Given the description of an element on the screen output the (x, y) to click on. 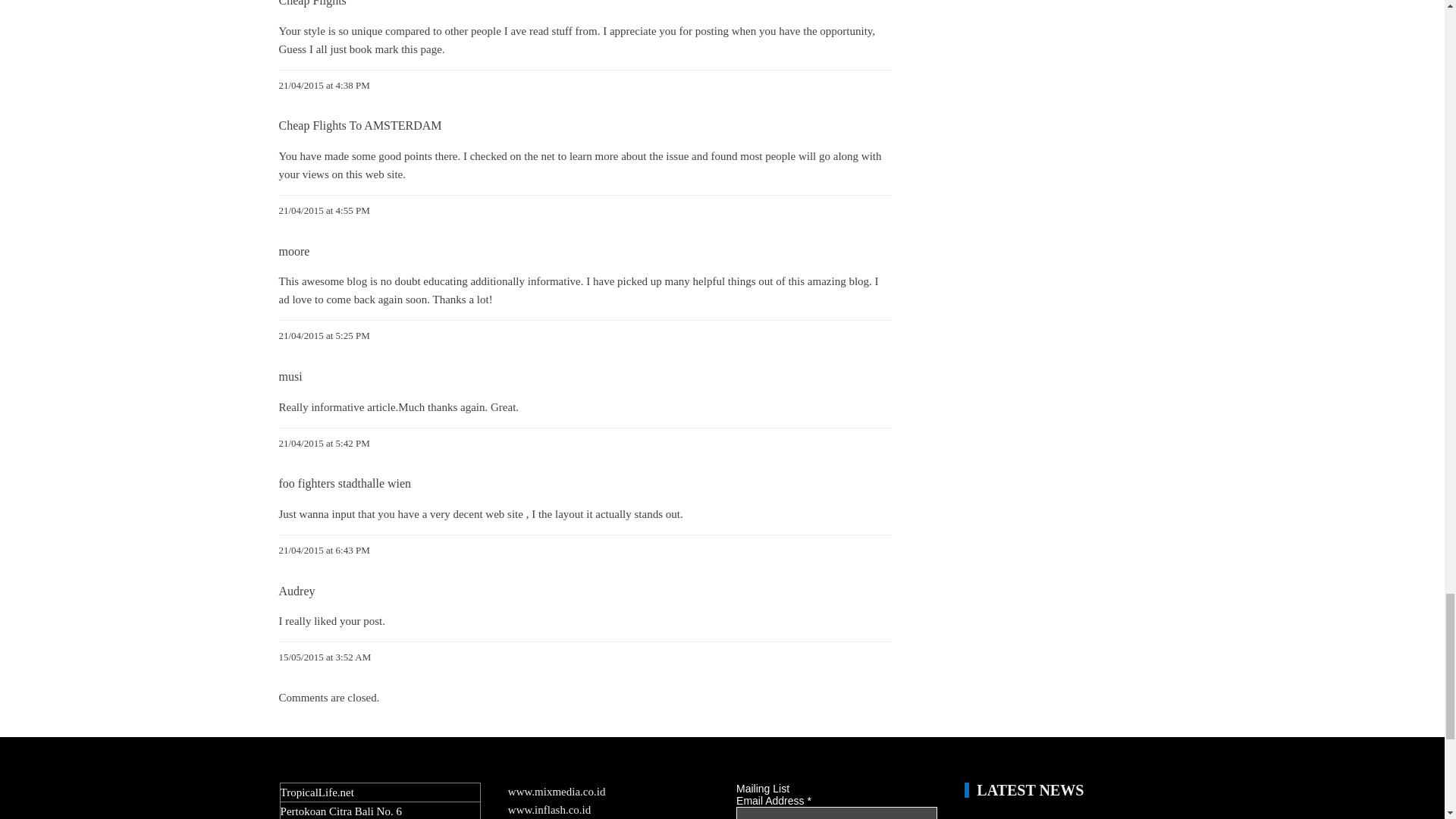
moore (294, 250)
foo fighters stadthalle wien (345, 482)
Cheap Flights To AMSTERDAM (360, 124)
musi (290, 376)
Cheap Flights (312, 3)
